Given the description of an element on the screen output the (x, y) to click on. 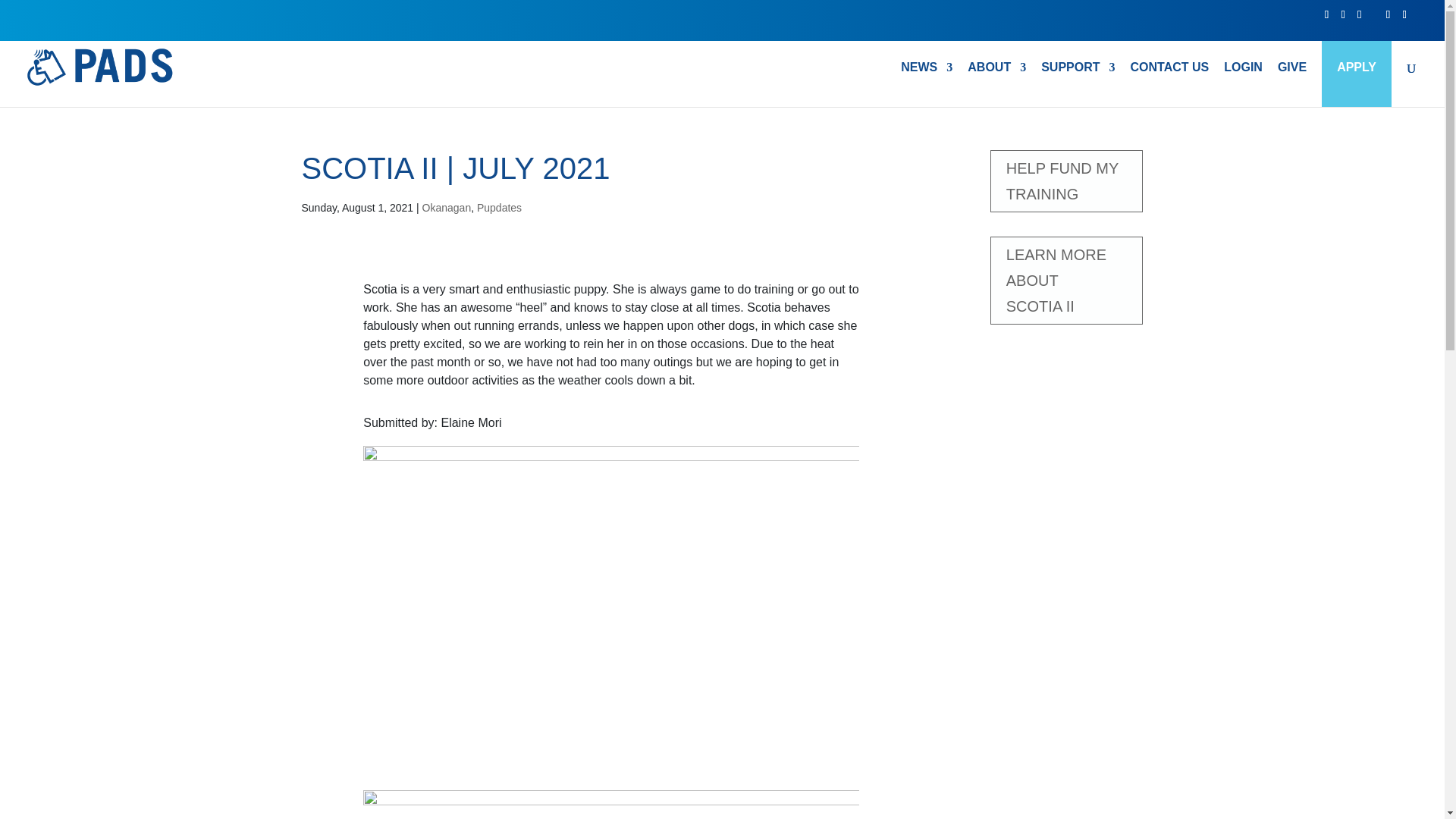
ABOUT (997, 84)
NEWS (926, 84)
CONTACT US (1170, 84)
SUPPORT (1078, 84)
